Given the description of an element on the screen output the (x, y) to click on. 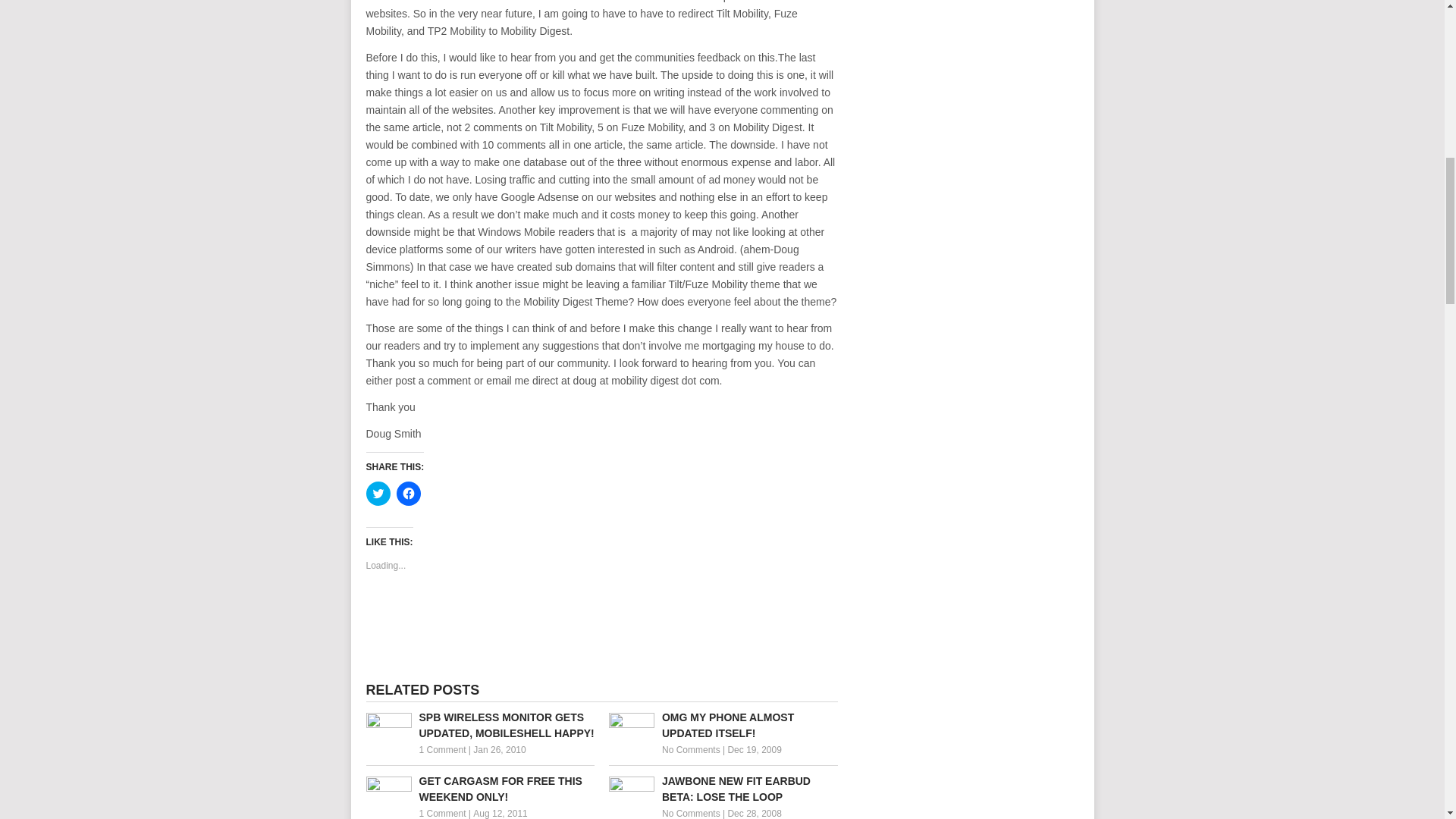
SPB WIRELESS MONITOR GETS UPDATED, MOBILESHELL HAPPY! (479, 726)
OMG My Phone Almost Updated Itself! (723, 726)
No Comments (691, 813)
Get Cargasm for Free This Weekend Only! (479, 789)
Click to share on Facebook (408, 493)
Click to share on Twitter (377, 493)
Spb Wireless Monitor gets Updated, MobileShell Happy! (479, 726)
No Comments (691, 749)
JAWBONE NEW FIT EARBUD BETA: LOSE THE LOOP (723, 789)
OMG MY PHONE ALMOST UPDATED ITSELF! (723, 726)
